Given the description of an element on the screen output the (x, y) to click on. 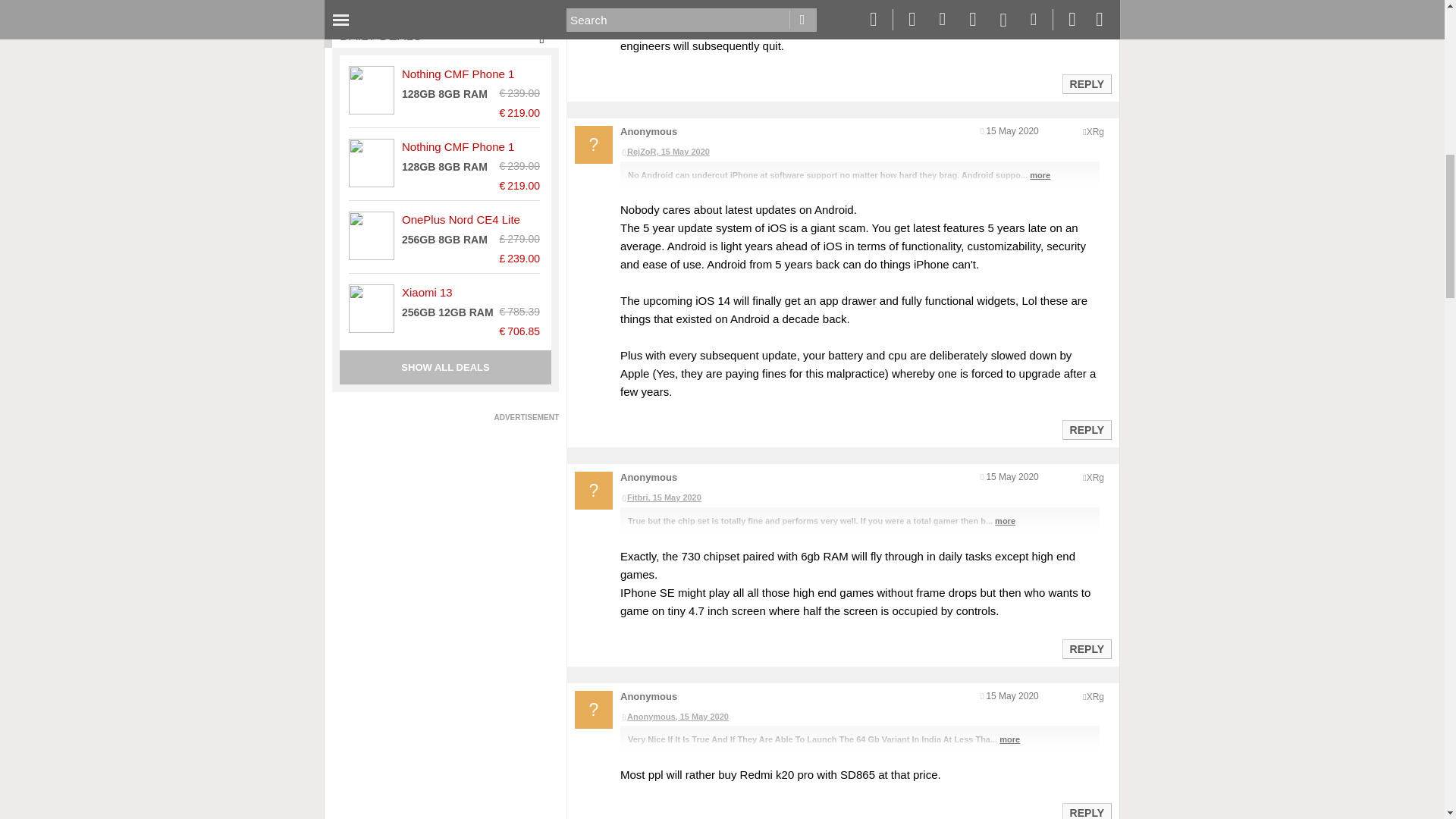
Encoded anonymized location (1094, 477)
Reply to this post (1086, 812)
Reply to this post (1086, 648)
Reply to this post (1086, 429)
Reply to this post (1086, 83)
Encoded anonymized location (1094, 696)
Encoded anonymized location (1094, 131)
